Given the description of an element on the screen output the (x, y) to click on. 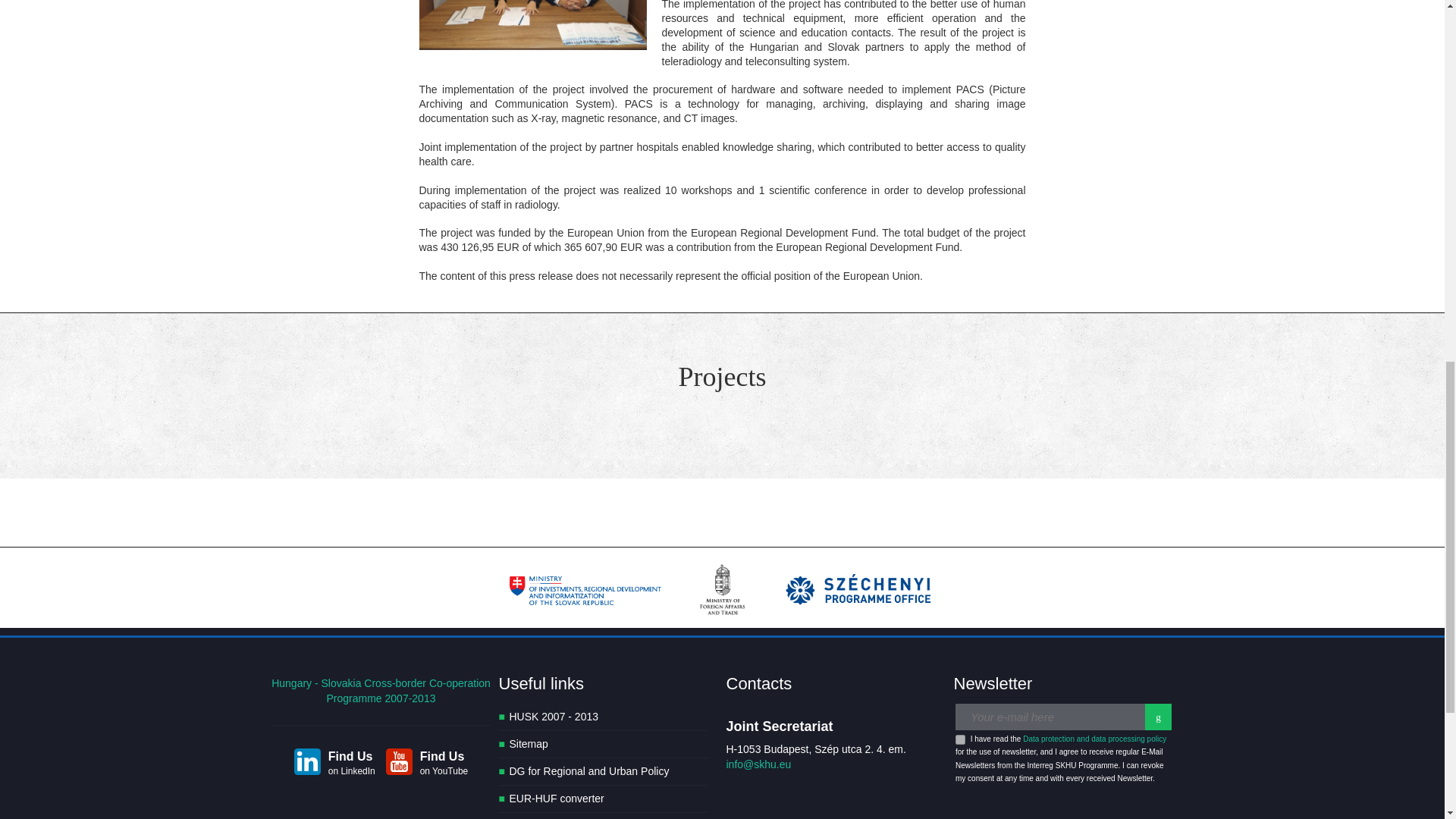
1 (960, 739)
